Given the description of an element on the screen output the (x, y) to click on. 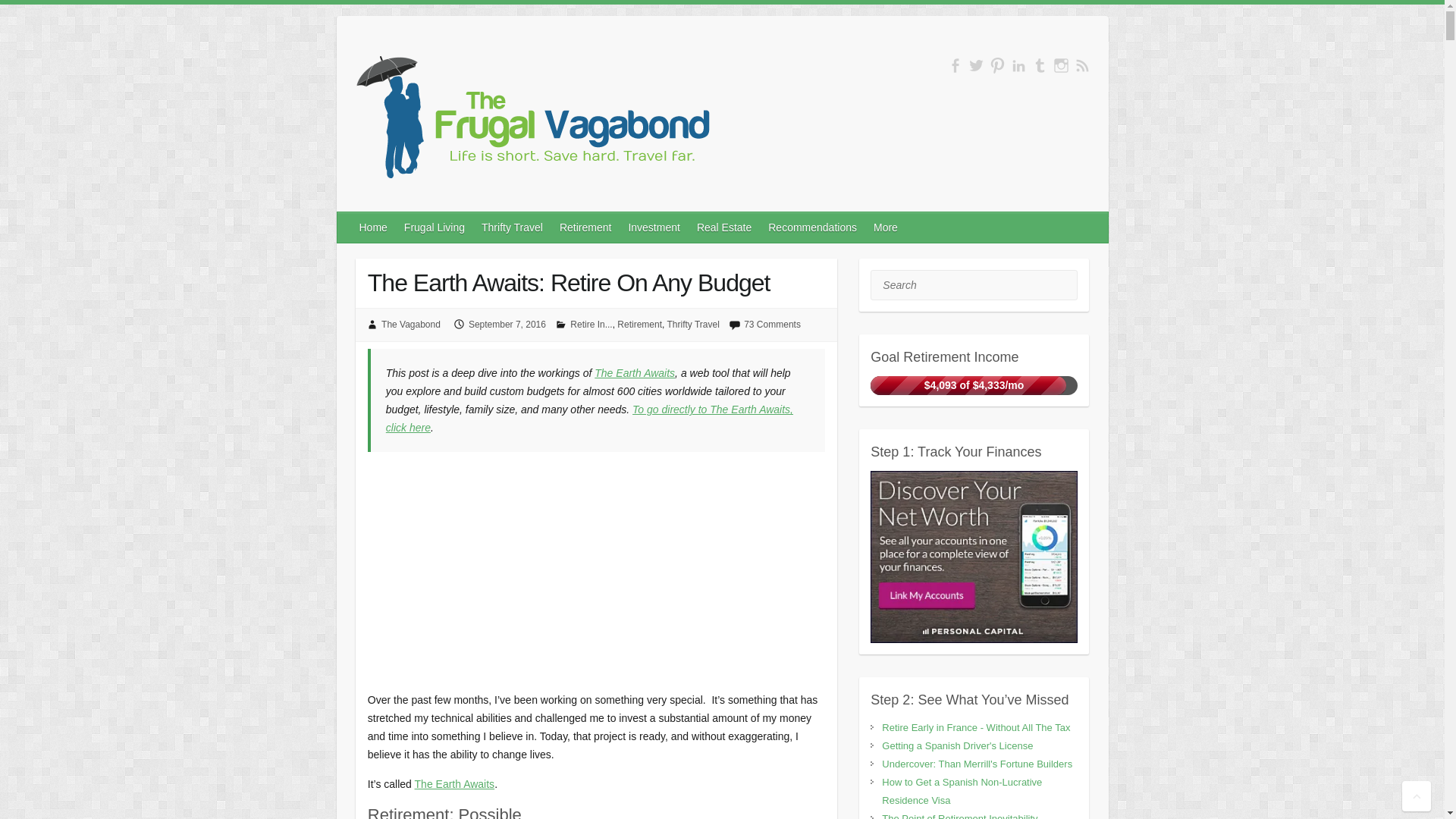
The Frugal Vagabond on Twitter (976, 65)
The Frugal Vagabond on RSS (1082, 65)
The Frugal Vagabond on Tumblr (1039, 65)
To go directly to The Earth Awaits, click here (589, 418)
The Earth Awaits (454, 784)
Real Estate (724, 227)
The Frugal Vagabond (531, 118)
Home (374, 227)
September 7, 2016 (507, 324)
More (886, 227)
